Given the description of an element on the screen output the (x, y) to click on. 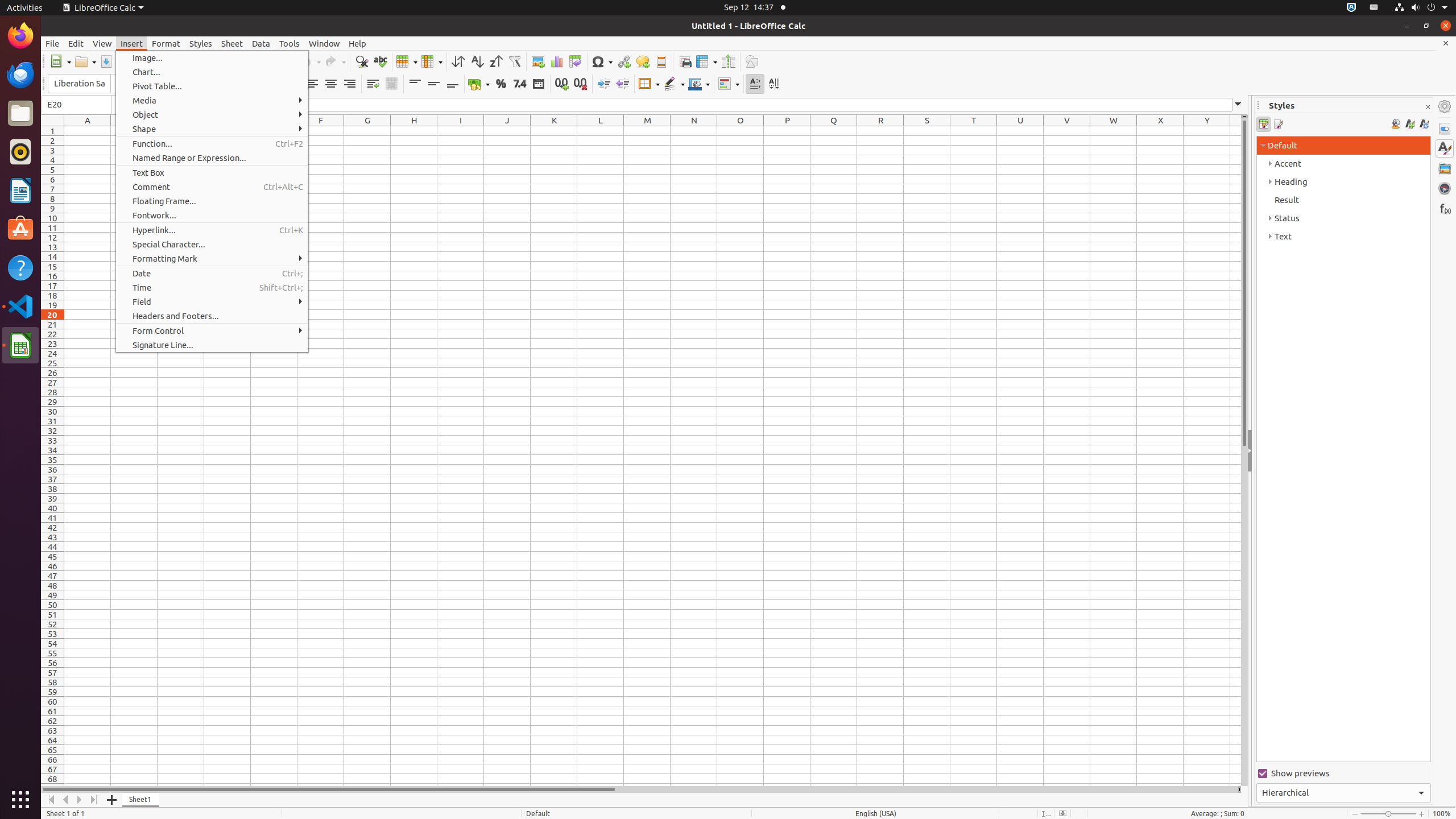
Window Element type: menu (324, 43)
Ubuntu Software Element type: push-button (20, 229)
U1 Element type: table-cell (1020, 130)
Merge and Center Cells Element type: push-button (391, 83)
Function... Element type: menu-item (212, 143)
